Given the description of an element on the screen output the (x, y) to click on. 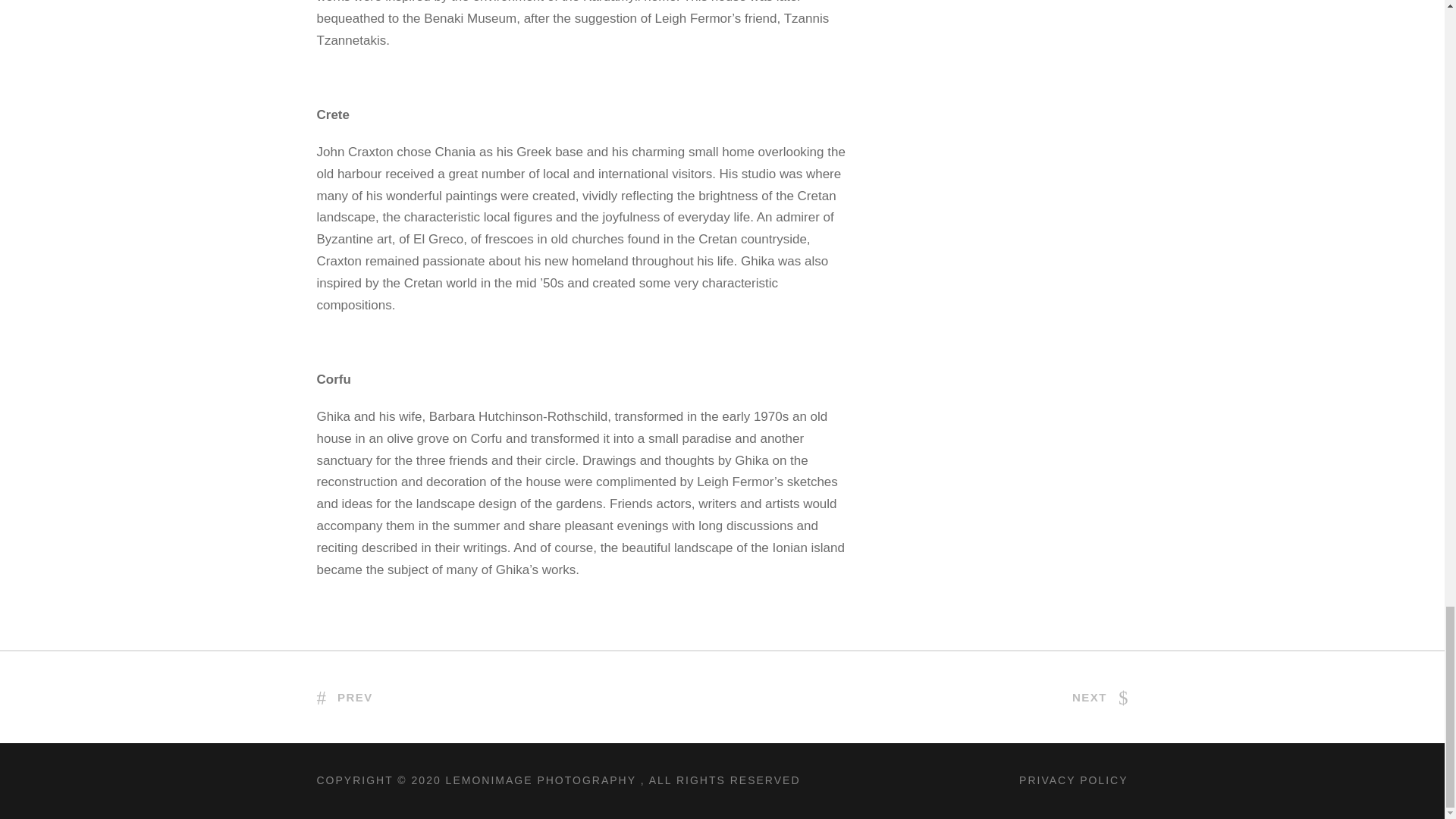
PRIVACY POLICY (1072, 779)
NEXT (1099, 697)
PREV (344, 697)
